Given the description of an element on the screen output the (x, y) to click on. 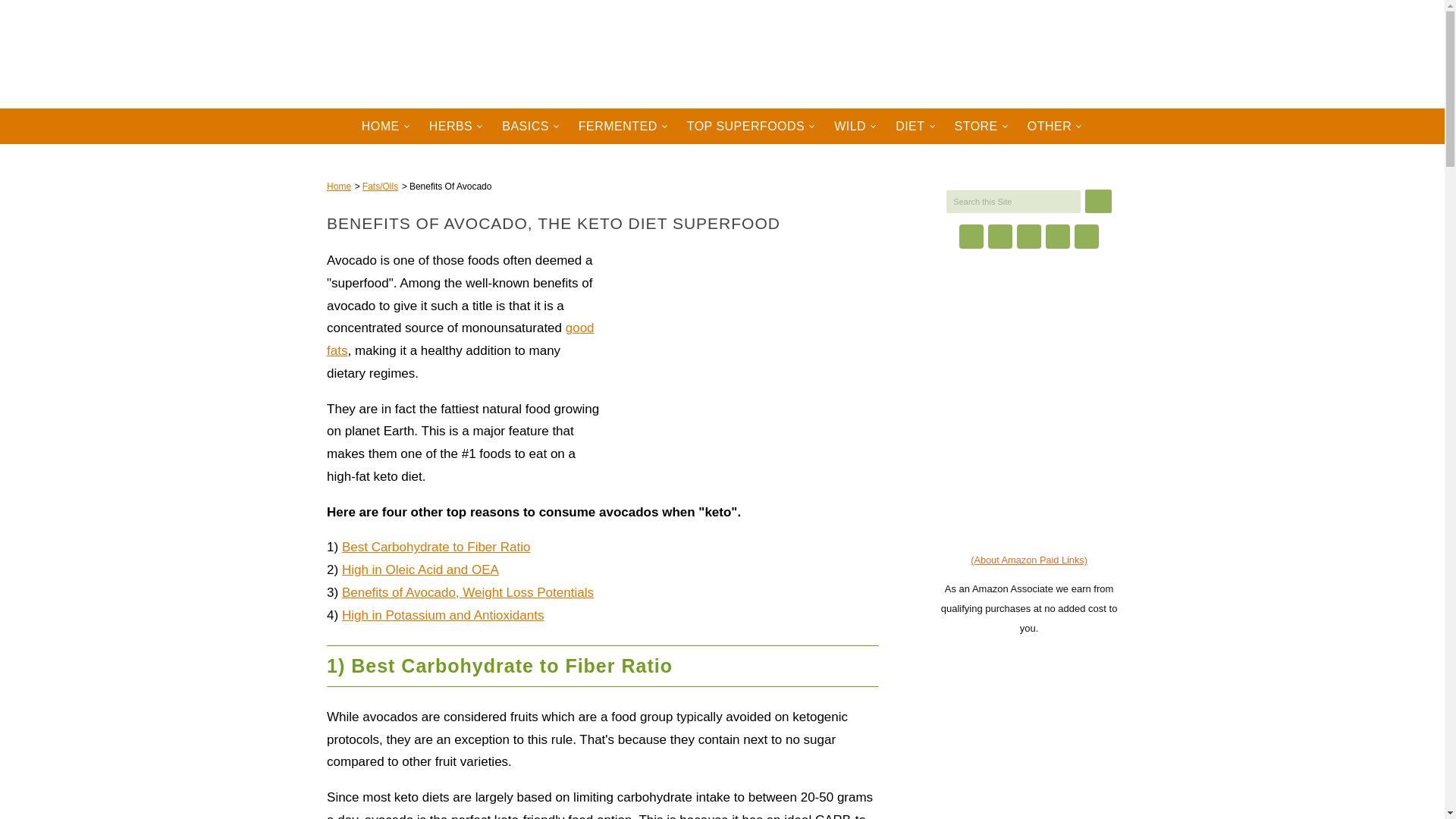
Superfood Evolution on Instagram (999, 236)
benefits-of-avocado (745, 342)
Superfood Evolution on Pinterest (1057, 236)
Search this Site (1013, 200)
Go to Ezine Subscription (1028, 471)
Superfood Evolution on YouTube (1028, 236)
Home (338, 185)
SUPERFOOD EVOLUTION (434, 34)
Search this Site (1013, 200)
Go to Fats and Oils Store (1028, 385)
